Given the description of an element on the screen output the (x, y) to click on. 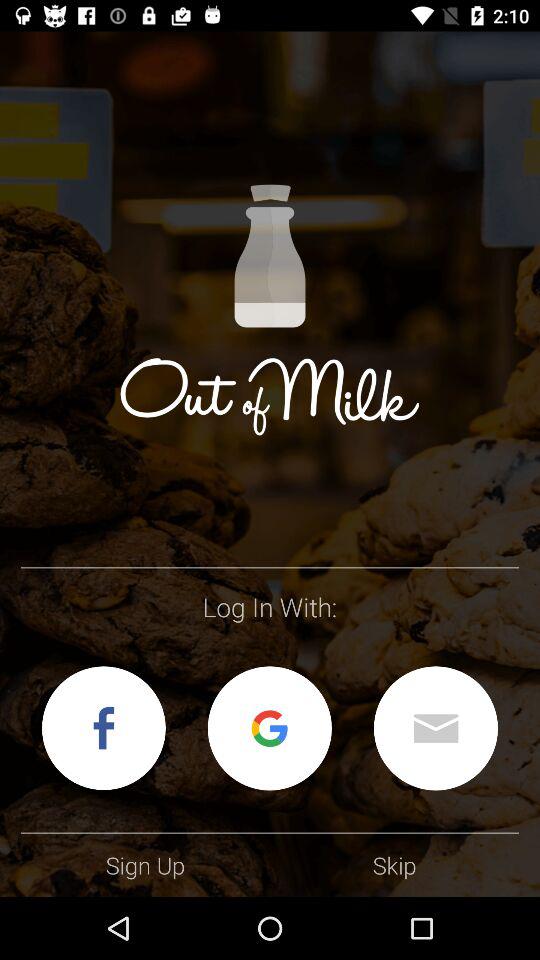
log in with google (269, 728)
